Given the description of an element on the screen output the (x, y) to click on. 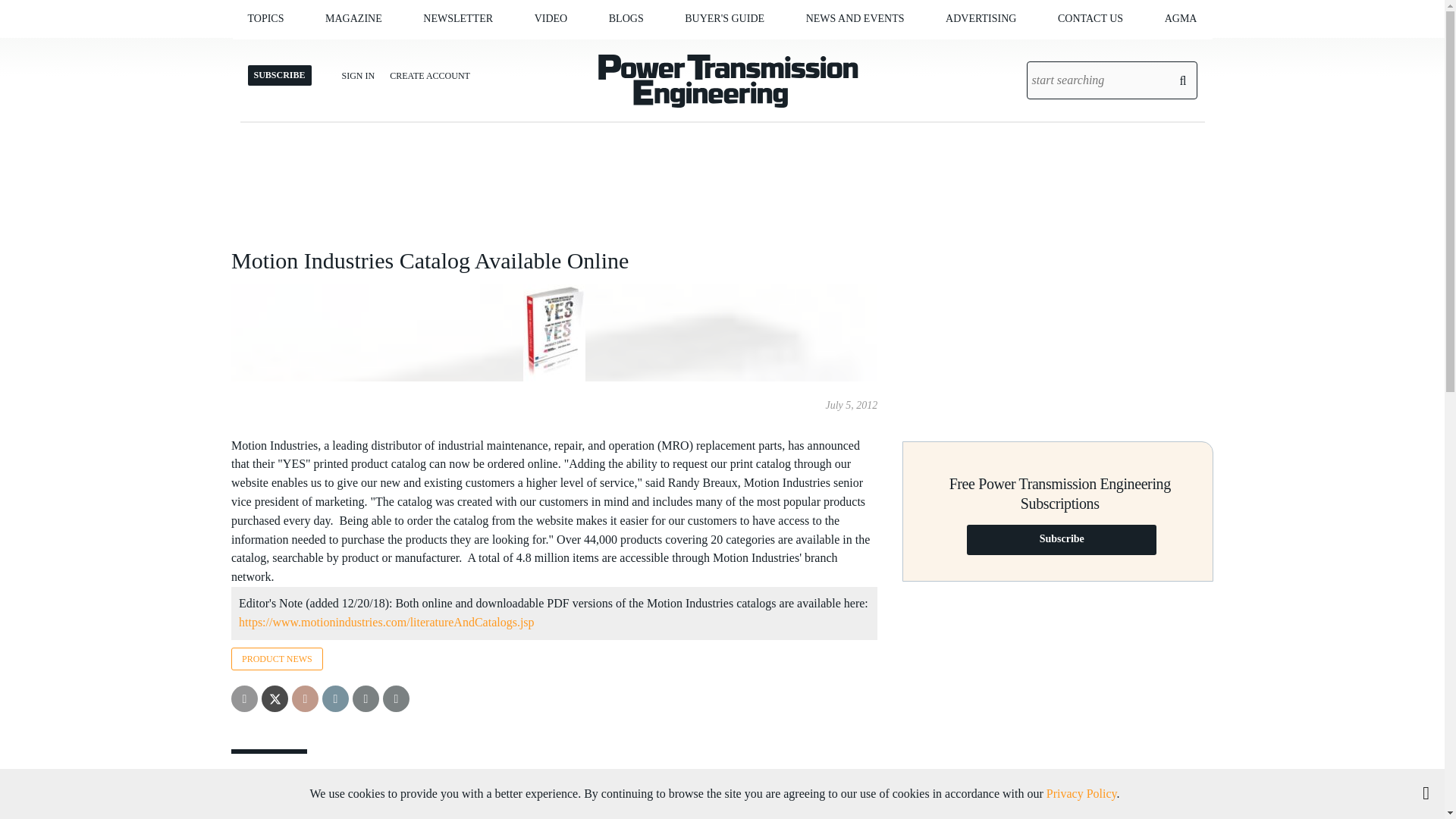
3rd party ad content (1057, 691)
Motion Industries Catalogs Online (386, 622)
3rd party ad content (1057, 330)
